Given the description of an element on the screen output the (x, y) to click on. 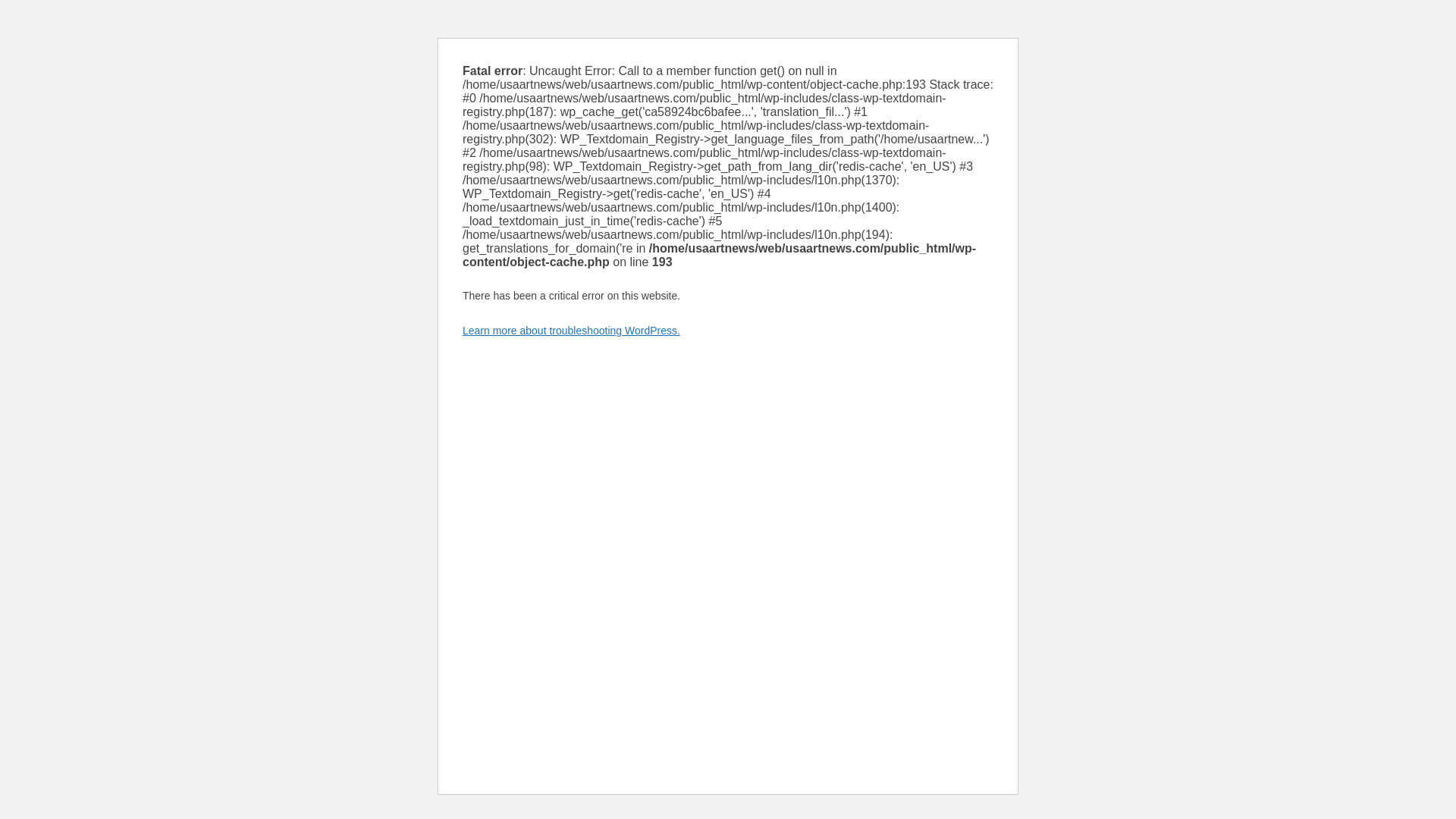
Learn more about troubleshooting WordPress. (571, 330)
